Given the description of an element on the screen output the (x, y) to click on. 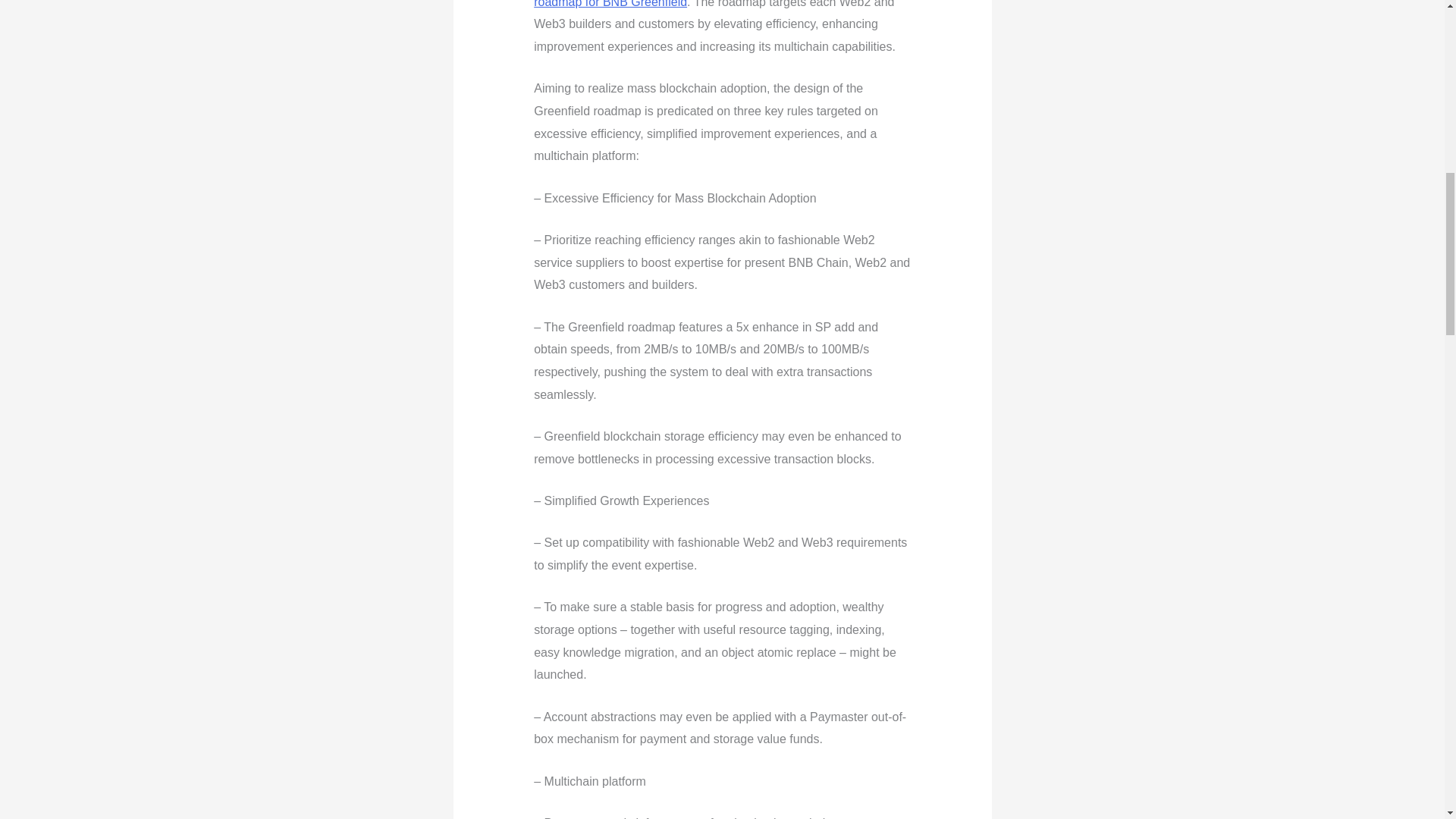
tech roadmap for BNB Greenfield (707, 4)
